Given the description of an element on the screen output the (x, y) to click on. 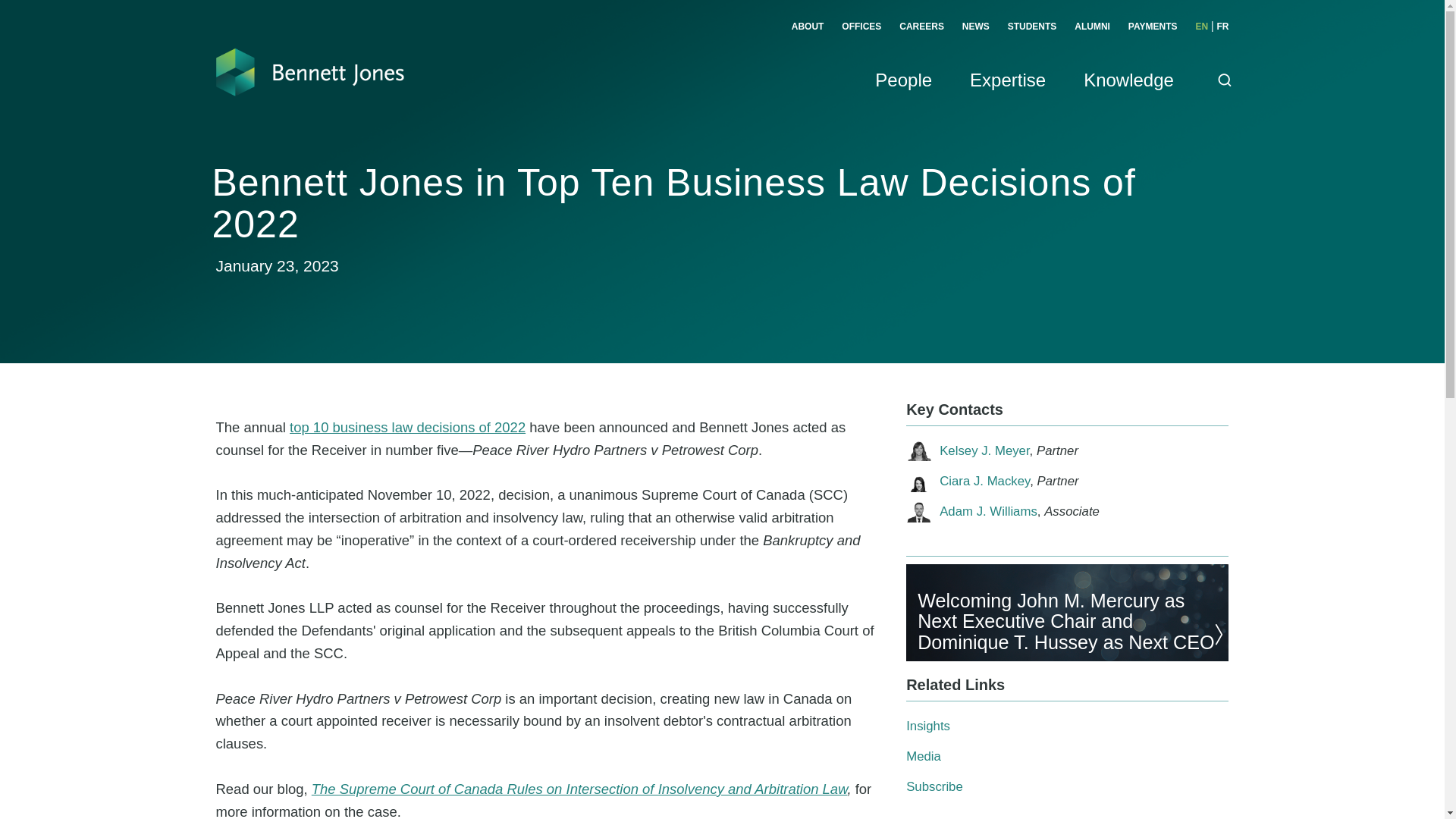
FR (1221, 26)
Expertise (1007, 97)
PAYMENTS (1152, 26)
ABOUT (808, 26)
Knowledge (1128, 97)
EN (1201, 26)
NEWS (976, 26)
ALUMNI (1091, 26)
People (903, 97)
STUDENTS (1032, 26)
